Given the description of an element on the screen output the (x, y) to click on. 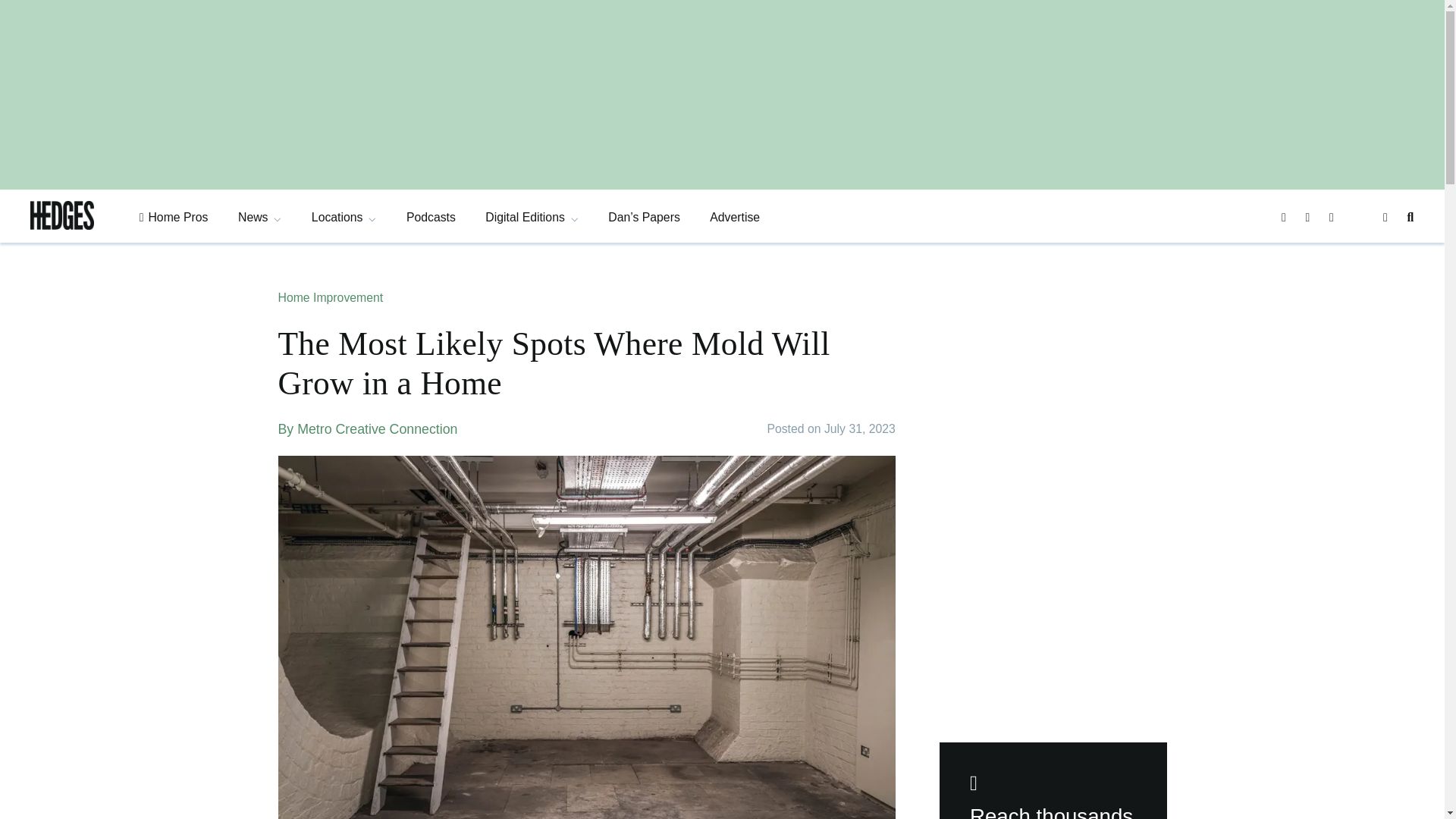
Locations (344, 216)
Home Pros (173, 216)
Digital Editions (531, 216)
Podcasts (430, 216)
News (259, 216)
Advertise (735, 216)
